Given the description of an element on the screen output the (x, y) to click on. 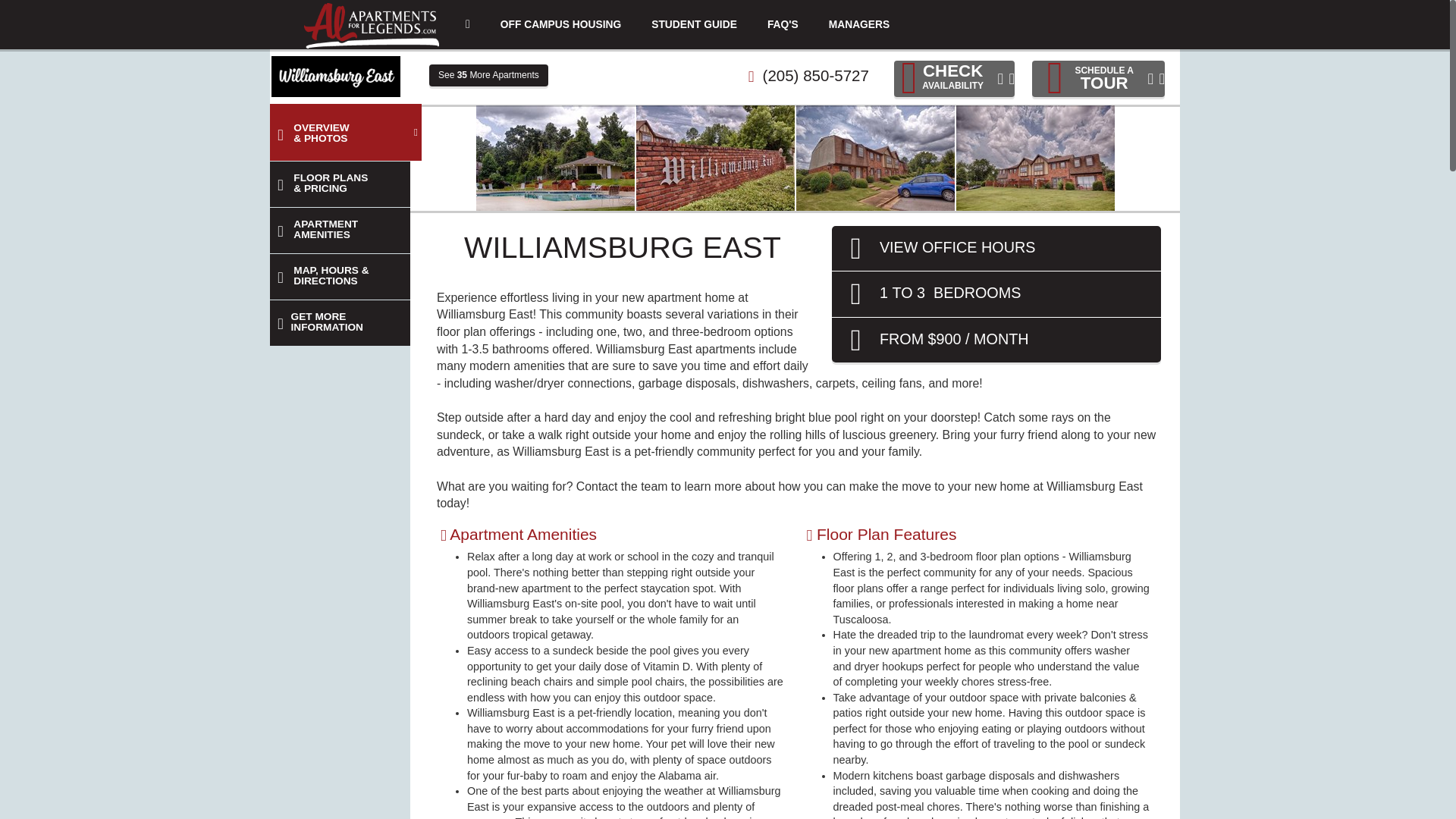
FAQ'S (339, 322)
1 TO 3  BEDROOMS (782, 24)
STUDENT GUIDE (995, 294)
See 35 More Apartments (953, 78)
FAQ's (694, 24)
OFF CAMPUS HOUSING (488, 75)
UA Student Guide (782, 24)
